Given the description of an element on the screen output the (x, y) to click on. 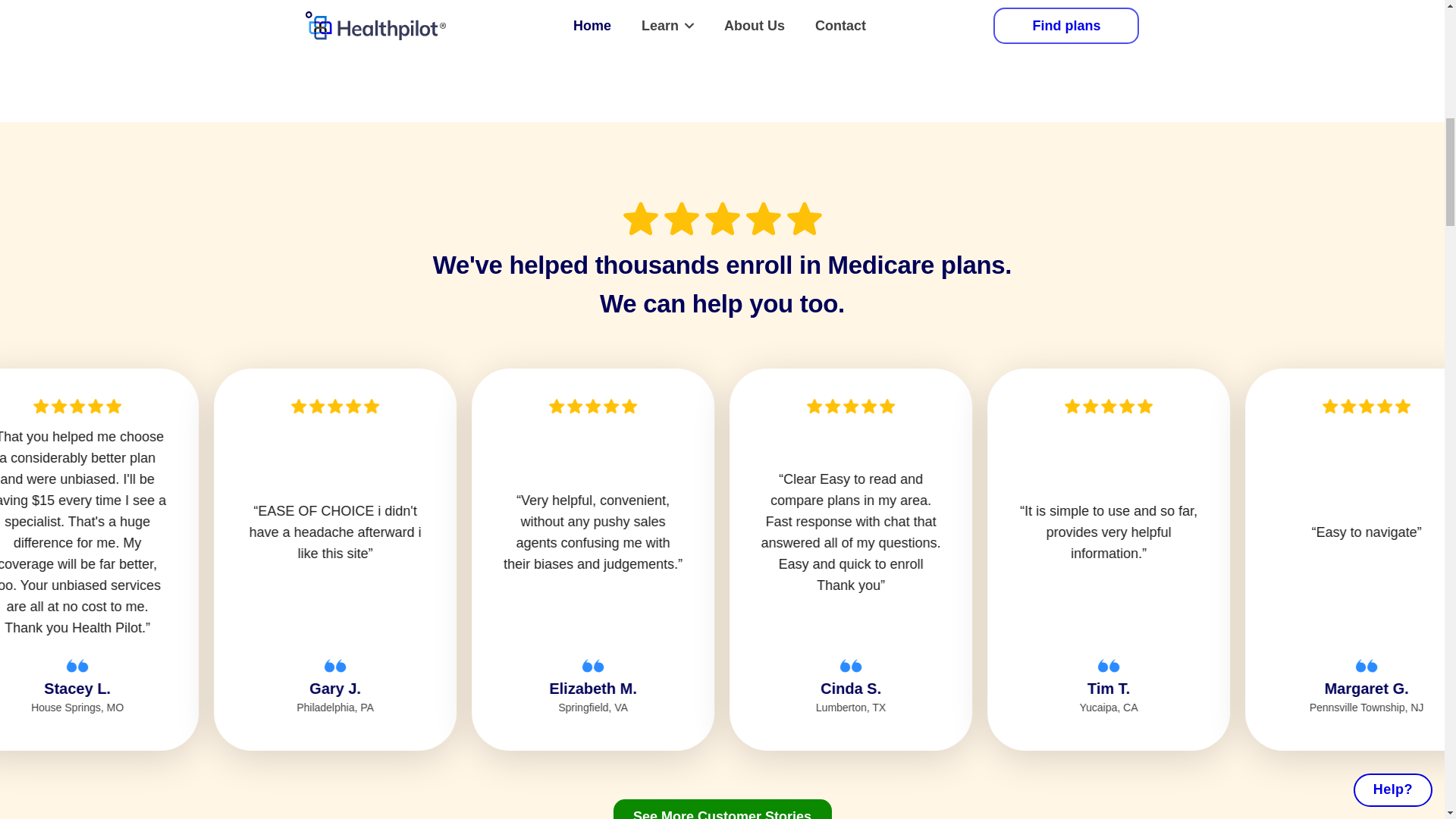
See all carriers and brands we work with (722, 15)
See More Customer Stories (721, 809)
